Given the description of an element on the screen output the (x, y) to click on. 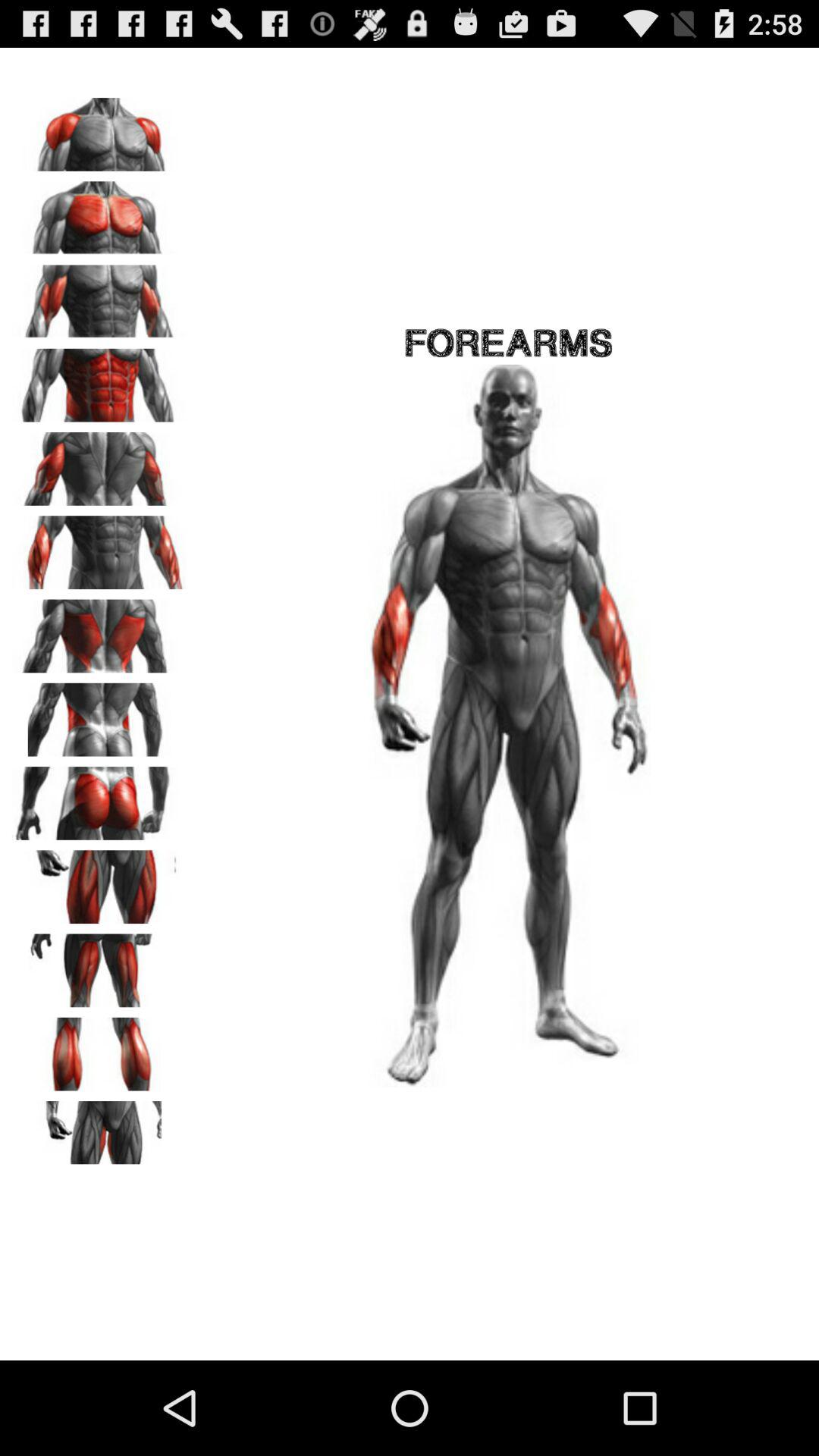
option (99, 1048)
